Given the description of an element on the screen output the (x, y) to click on. 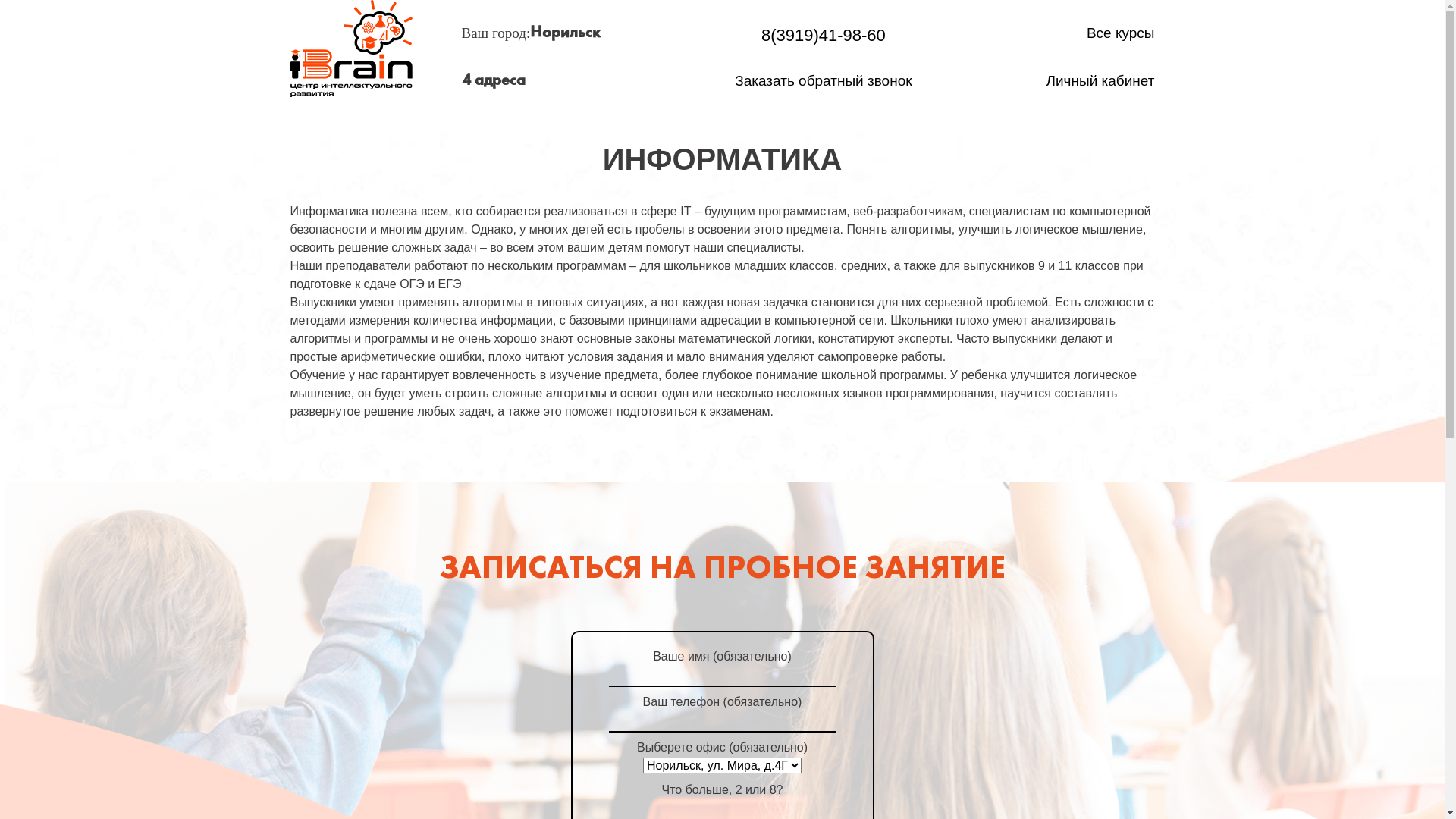
8(3919)41-98-60 Element type: text (822, 34)
